Given the description of an element on the screen output the (x, y) to click on. 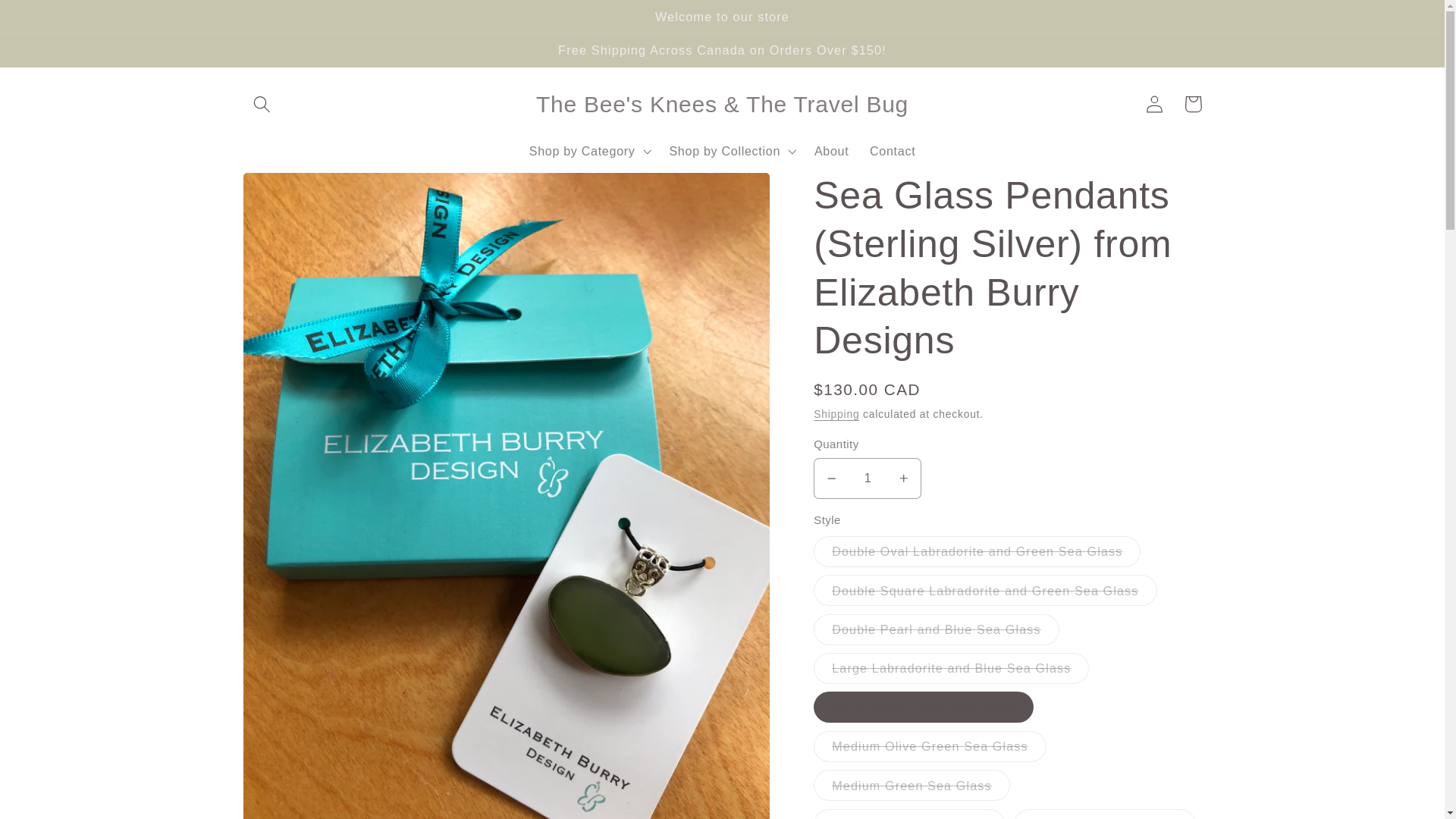
Skip to content (52, 20)
1 (867, 477)
